Given the description of an element on the screen output the (x, y) to click on. 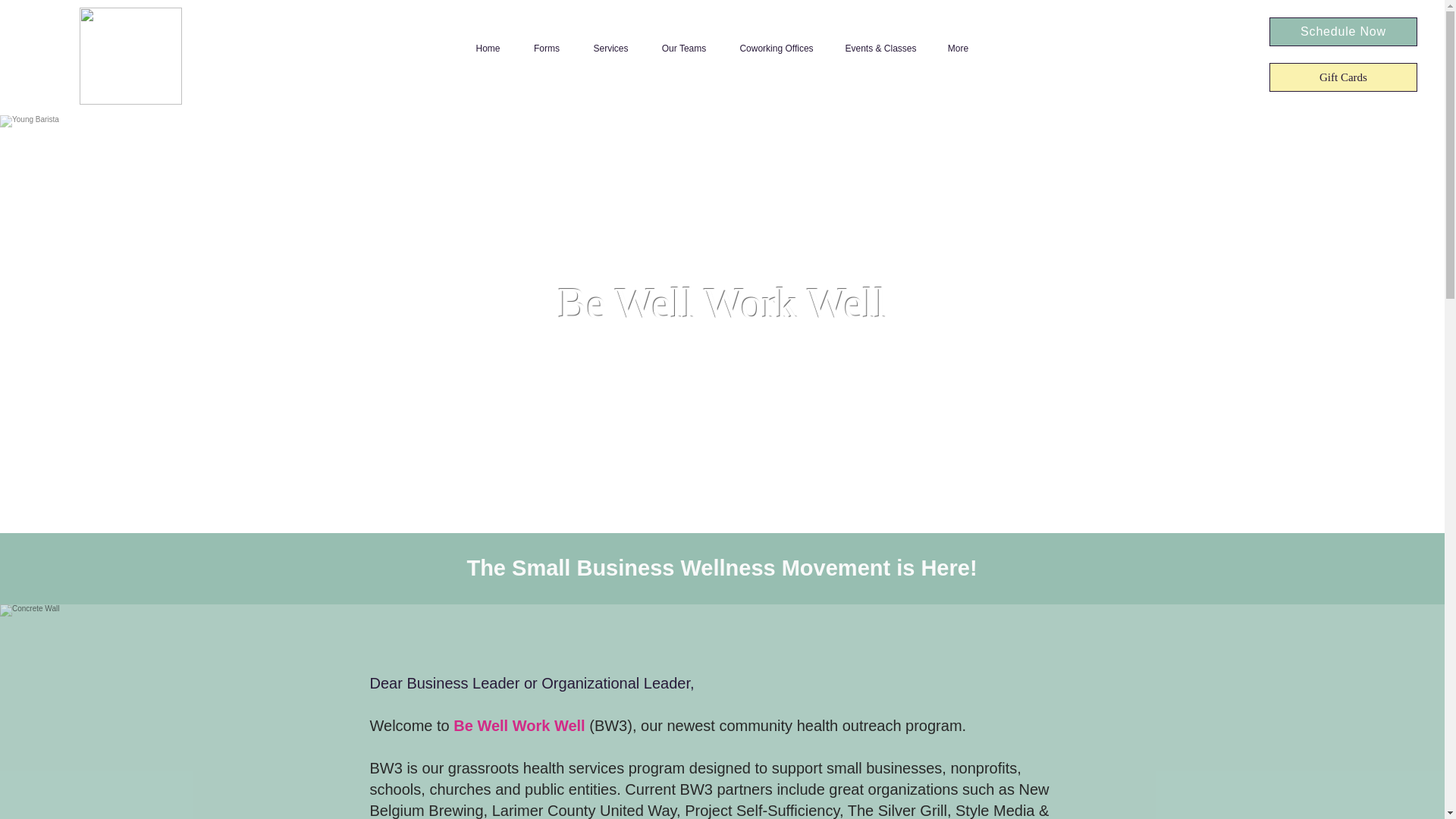
Coworking Offices (776, 48)
Schedule Now (1342, 31)
Gift Cards (1342, 77)
Our Teams (683, 48)
Forms (546, 48)
Home (488, 48)
